Given the description of an element on the screen output the (x, y) to click on. 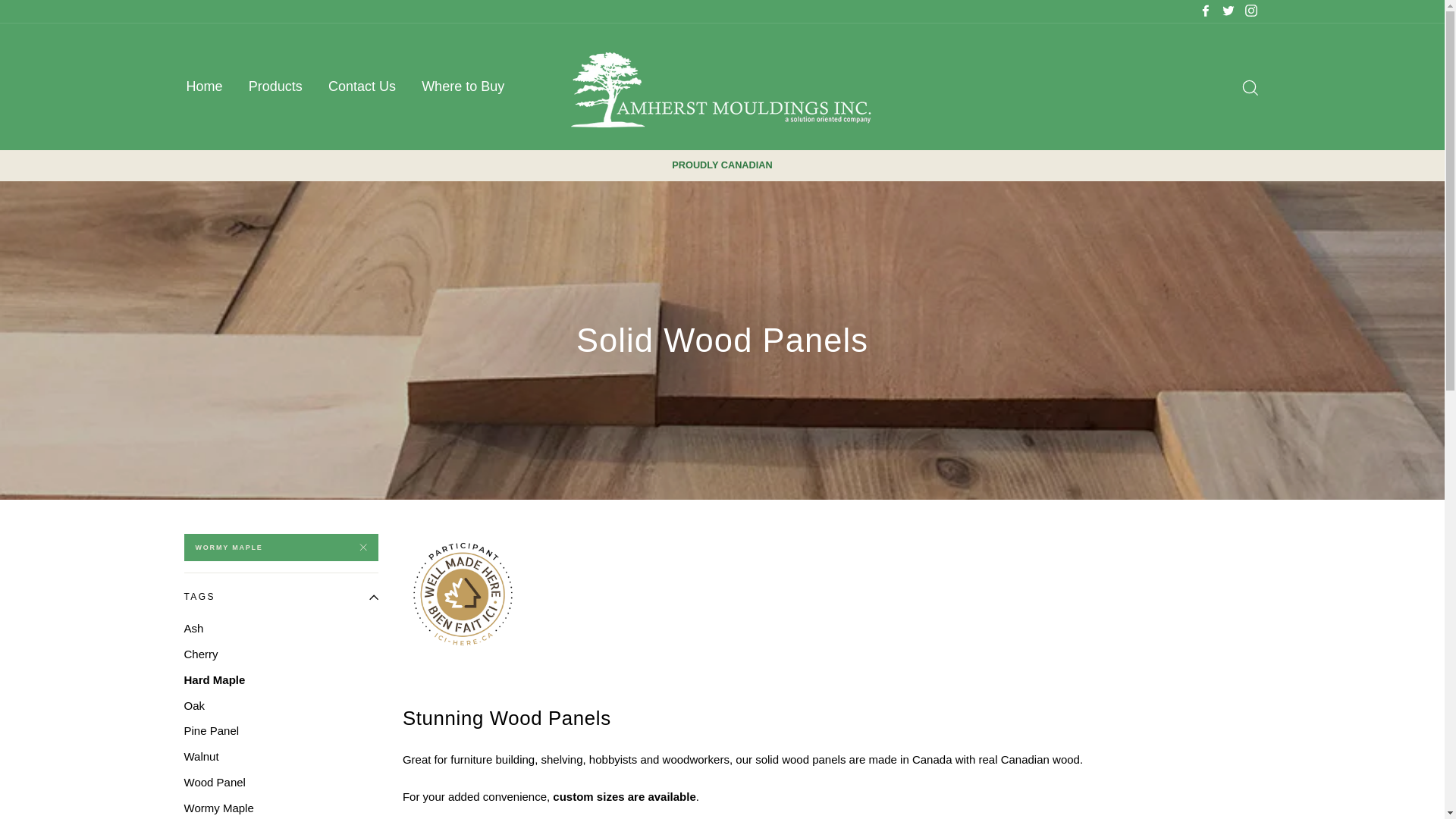
Home (203, 87)
Show products matching tag Cherry (280, 653)
Show products matching tag Hard Maple (280, 680)
Remove tag Hard Maple (280, 547)
Where to Buy (462, 87)
Show products matching tag Ash (280, 628)
Products (275, 87)
Contact Us (362, 87)
